Given the description of an element on the screen output the (x, y) to click on. 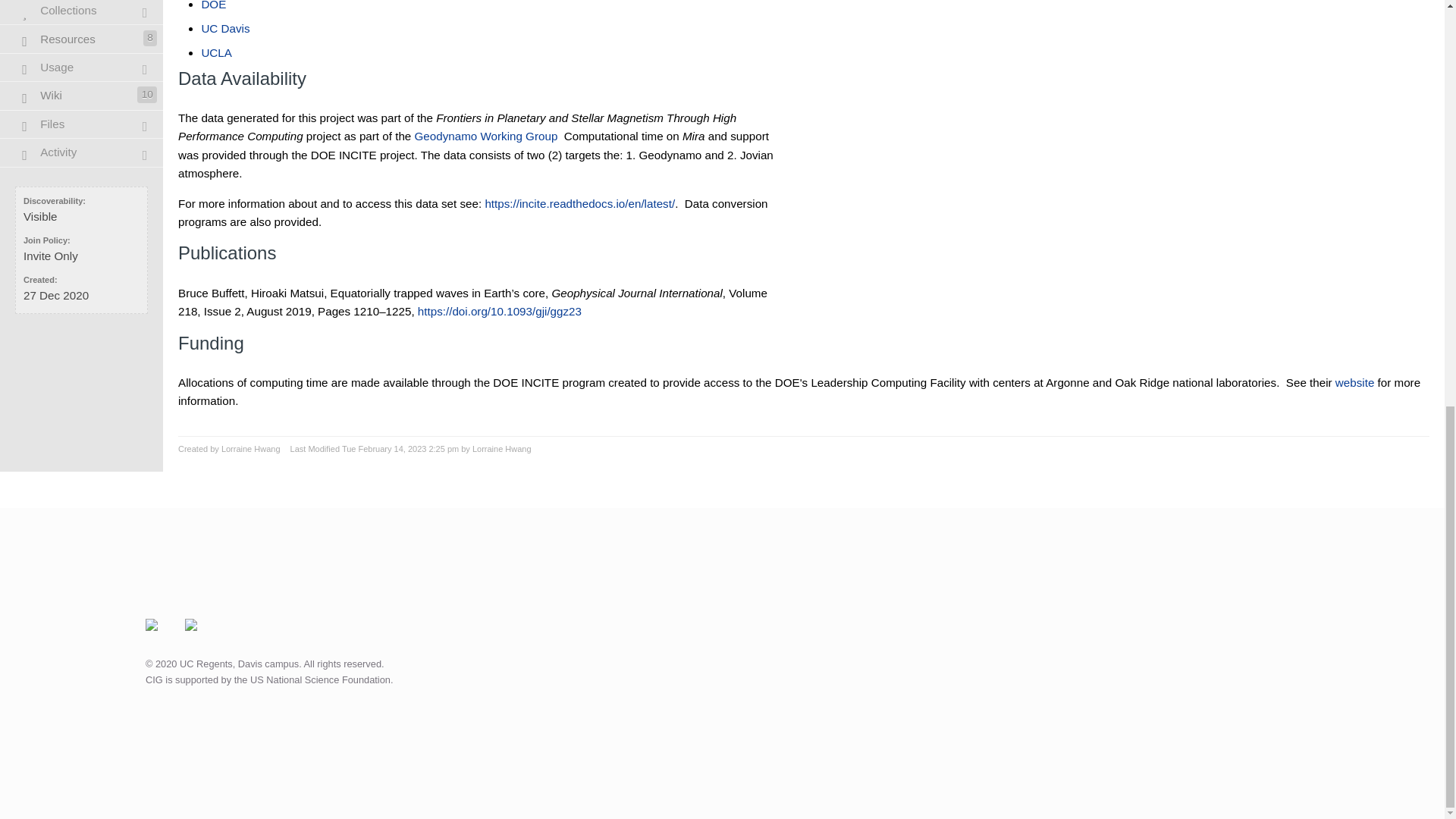
This page is restricted to group members only! (81, 12)
Dynamo's Wiki Page (81, 94)
This page is restricted to group members only! (81, 67)
This page is restricted to group members only! (81, 124)
Dynamo's Resources Page (81, 38)
